Given the description of an element on the screen output the (x, y) to click on. 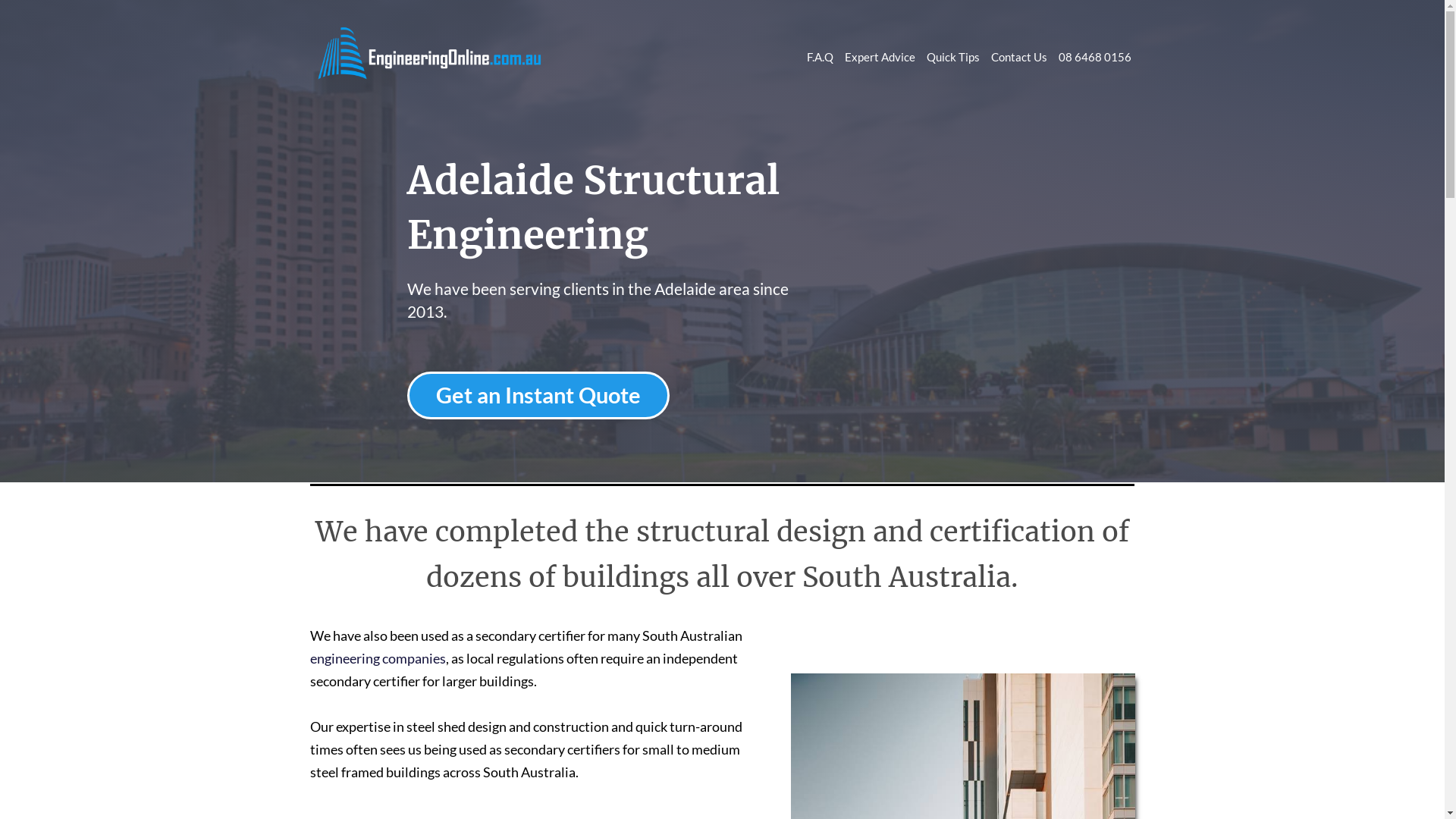
F.A.Q Element type: text (819, 56)
Expert Advice Element type: text (879, 56)
Get an Instant Quote Element type: text (537, 395)
Quick Tips Element type: text (952, 56)
engineering companies Element type: text (377, 657)
Contact Us Element type: text (1018, 56)
